Given the description of an element on the screen output the (x, y) to click on. 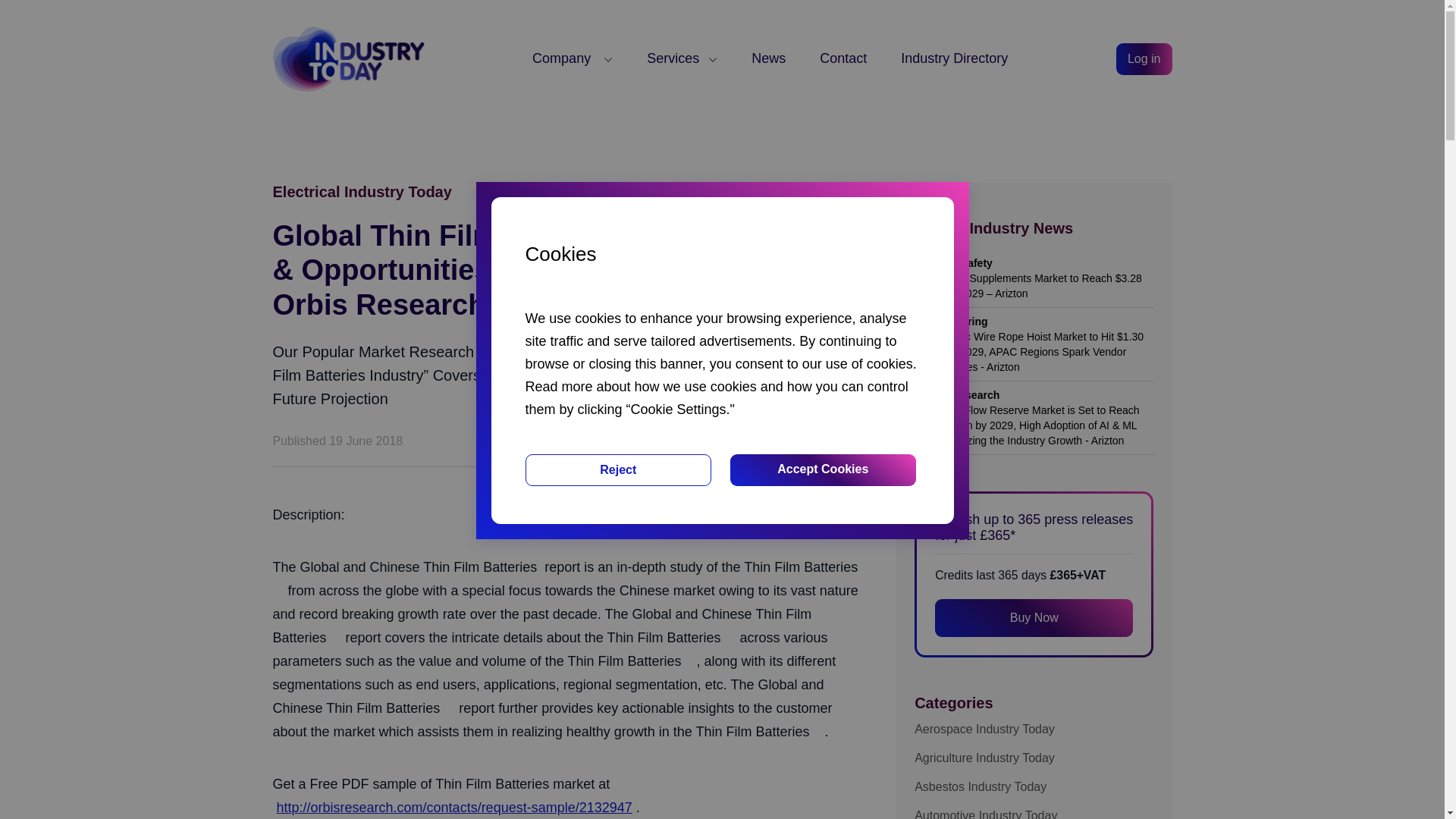
Aerospace Industry Today (1033, 729)
Automotive Industry Today (1033, 811)
Agriculture Industry Today (1033, 757)
Contact (842, 57)
Company (572, 57)
Industry Directory (954, 57)
Buy Now (1033, 617)
News (768, 57)
Services (681, 57)
Log in (1144, 59)
